Given the description of an element on the screen output the (x, y) to click on. 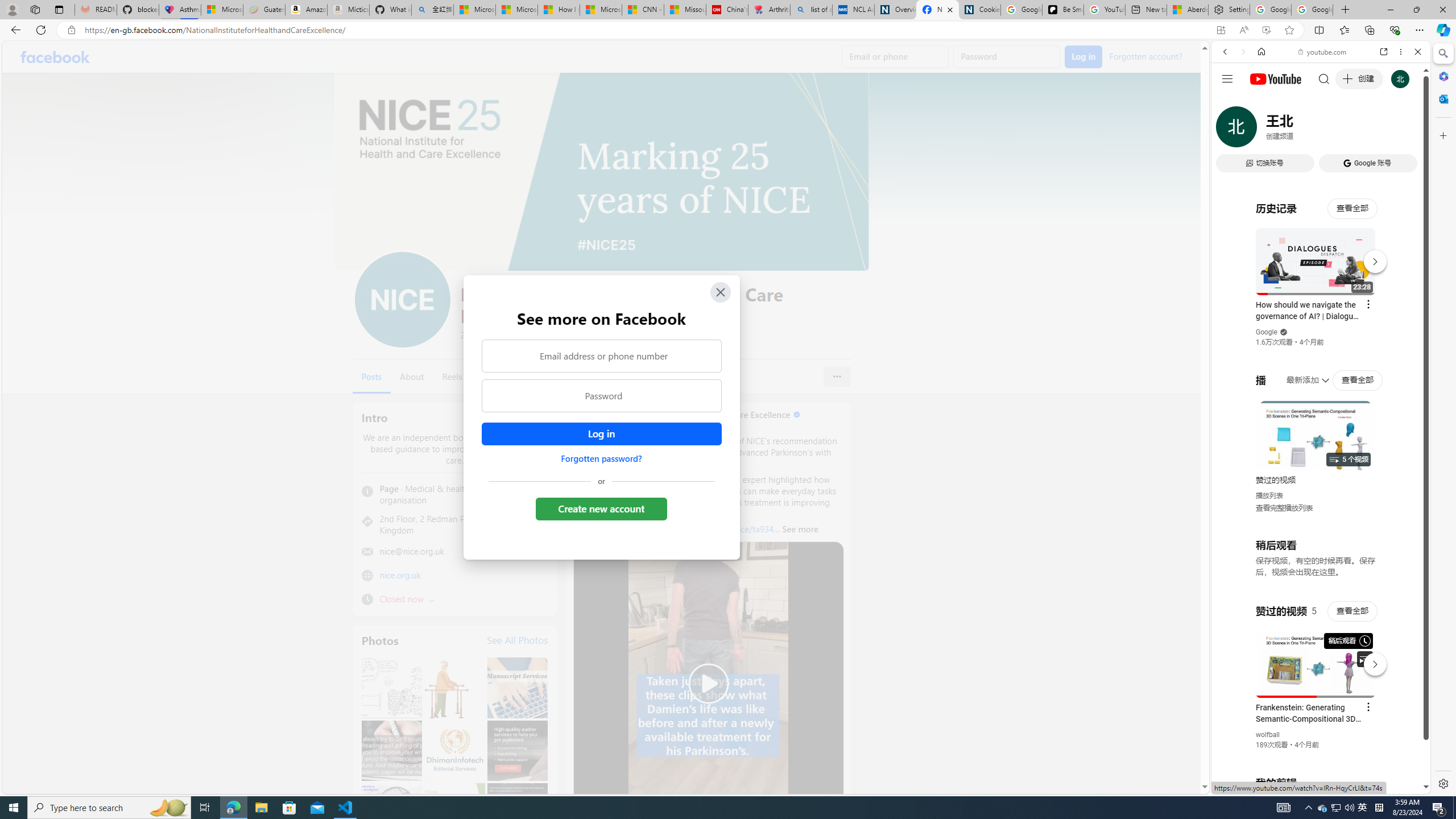
App available. Install Facebook (1220, 29)
Google (1320, 281)
Arthritis: Ask Health Professionals (769, 9)
Open link in new tab (1383, 51)
Music (1320, 309)
